Given the description of an element on the screen output the (x, y) to click on. 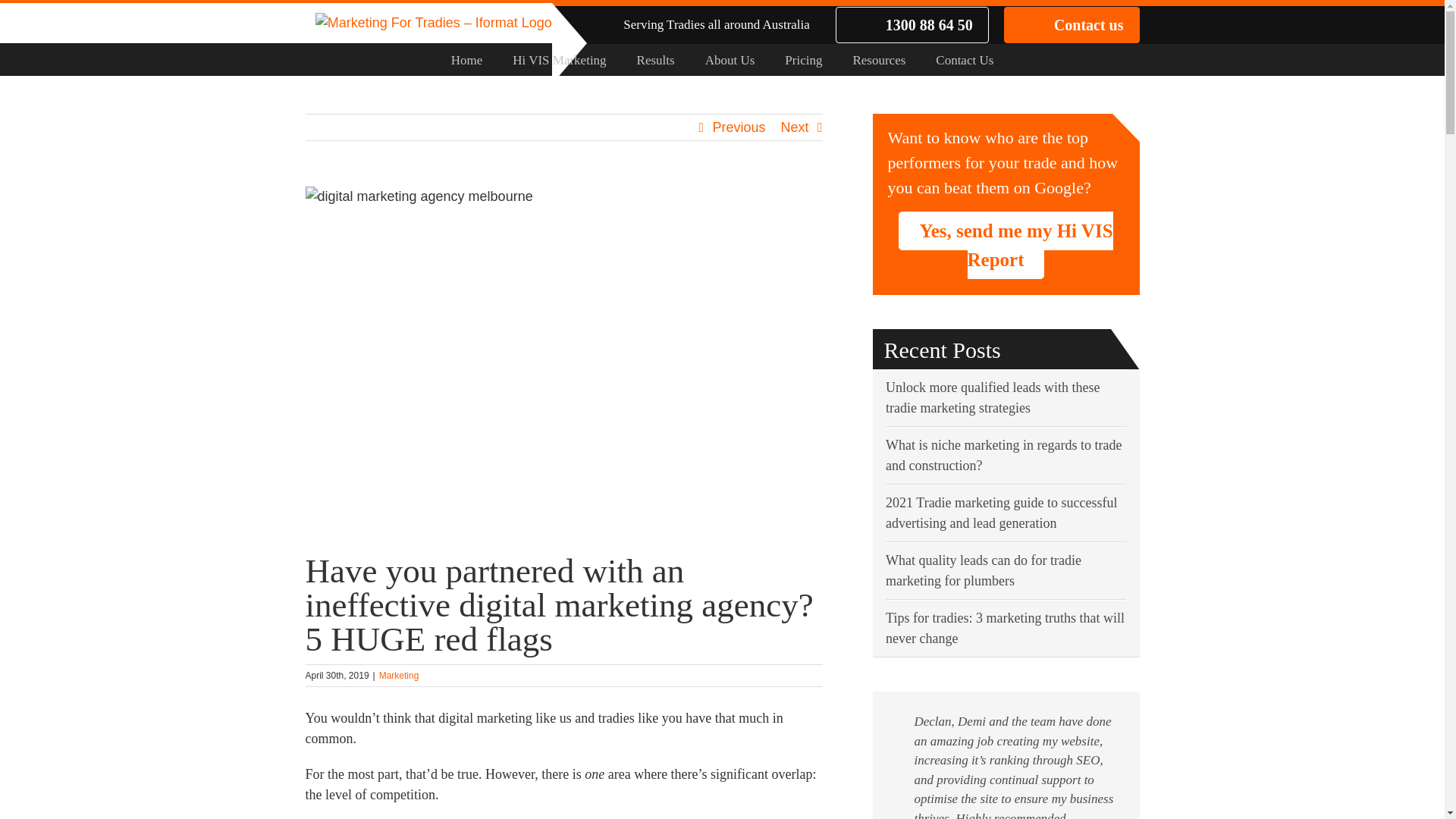
Resources Element type: text (878, 59)
Hi VIS Marketing Element type: text (558, 59)
Tips for tradies: 3 marketing truths that will never change Element type: text (1004, 628)
Contact Us Element type: text (964, 59)
Contact us Element type: text (1071, 24)
Previous Element type: text (738, 127)
1300 88 64 50 Element type: text (911, 24)
Marketing Element type: text (399, 675)
About Us Element type: text (730, 59)
What quality leads can do for tradie marketing for plumbers Element type: text (983, 570)
Home Element type: text (467, 59)
Next Element type: text (794, 127)
Results Element type: text (655, 59)
Pricing Element type: text (803, 59)
Yes, send me my Hi VIS Report Element type: text (1005, 245)
